Given the description of an element on the screen output the (x, y) to click on. 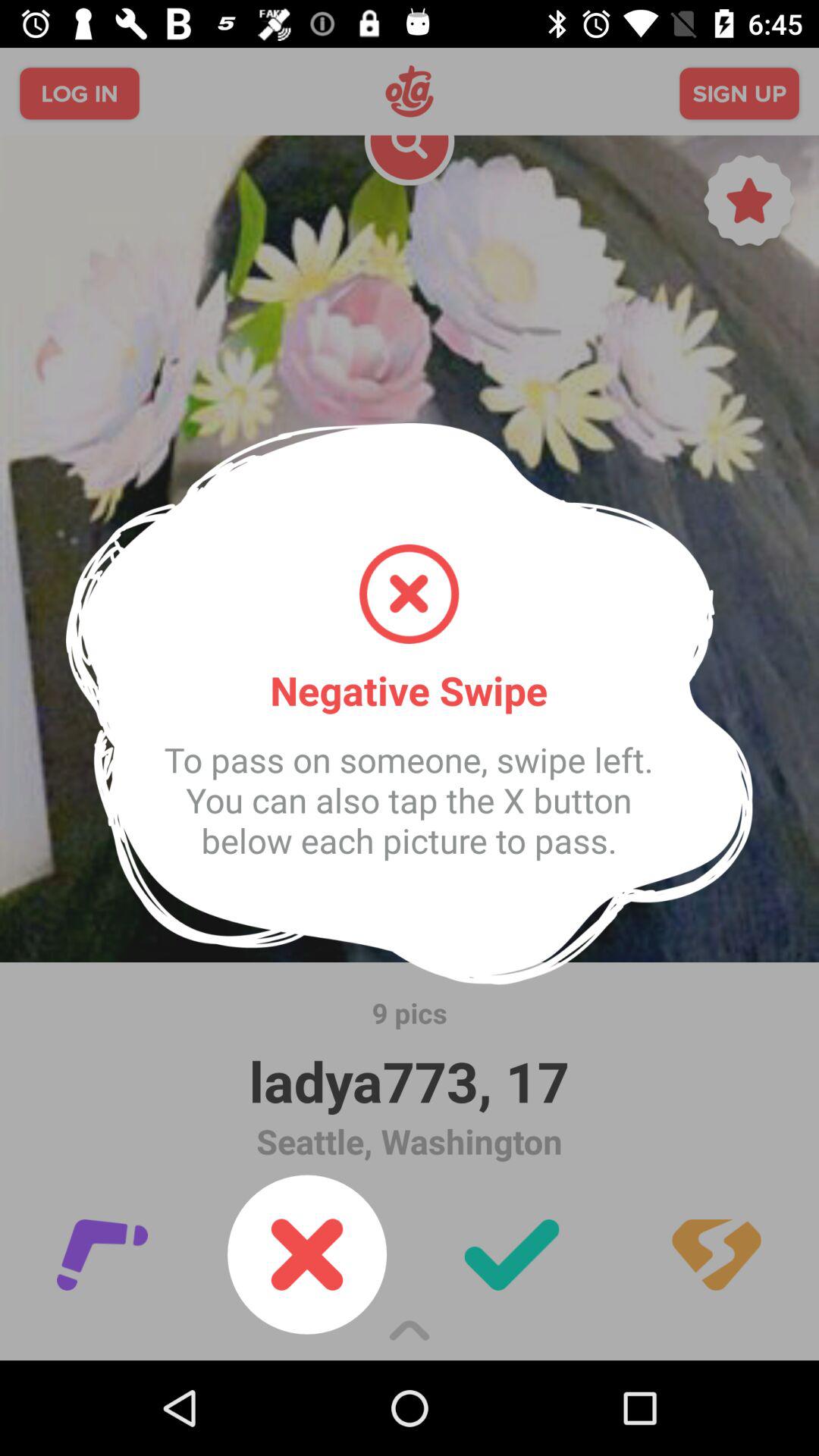
click on the icon below sign up option (749, 204)
click on the icon to the right of tick option (716, 1254)
click on log in (79, 92)
click on ota (409, 91)
click on the star symbol (749, 204)
